Given the description of an element on the screen output the (x, y) to click on. 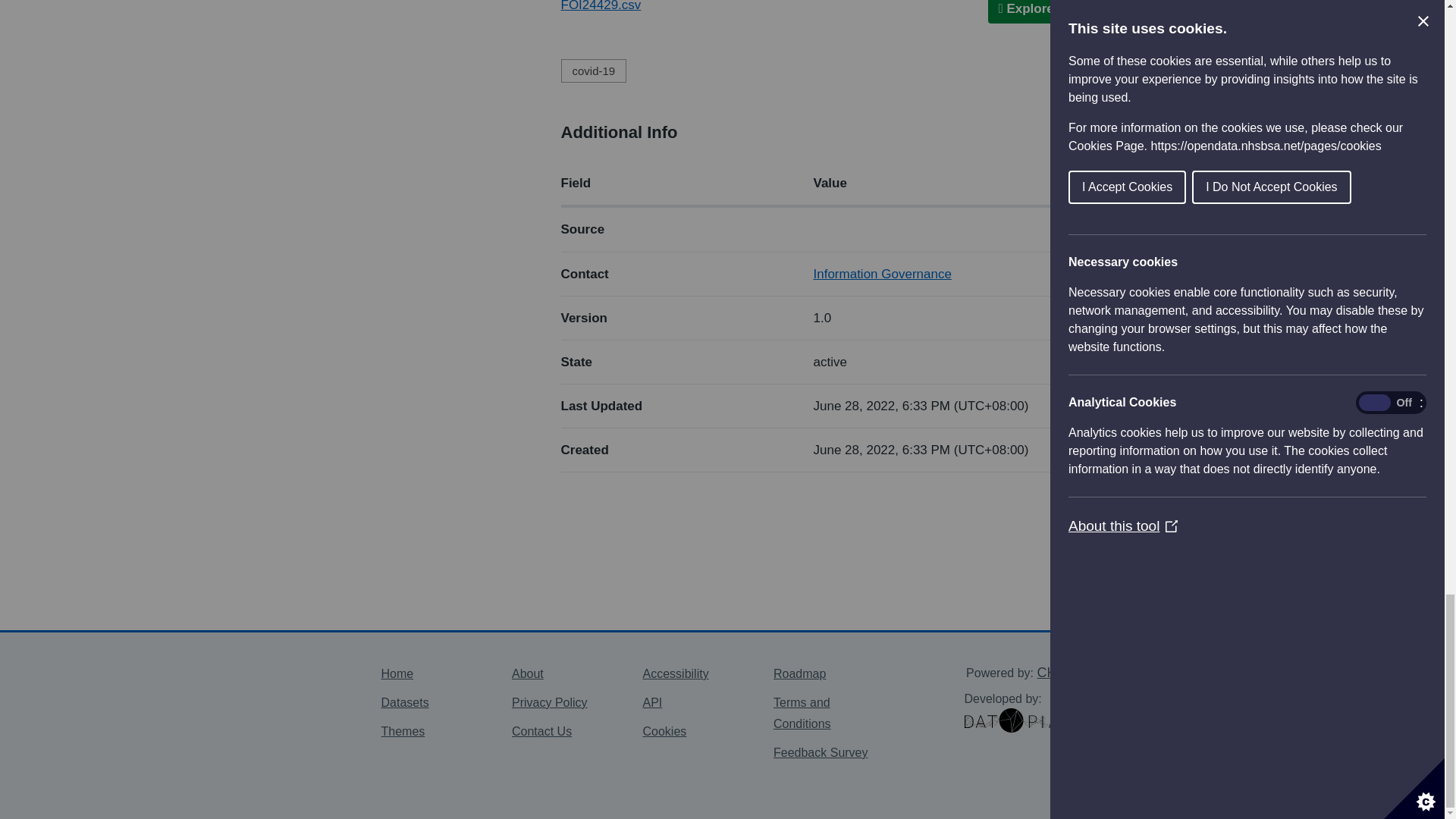
Tell us what you think of our Open Data Portal (820, 752)
FOI24429.csv (601, 6)
Explore (1030, 11)
